Given the description of an element on the screen output the (x, y) to click on. 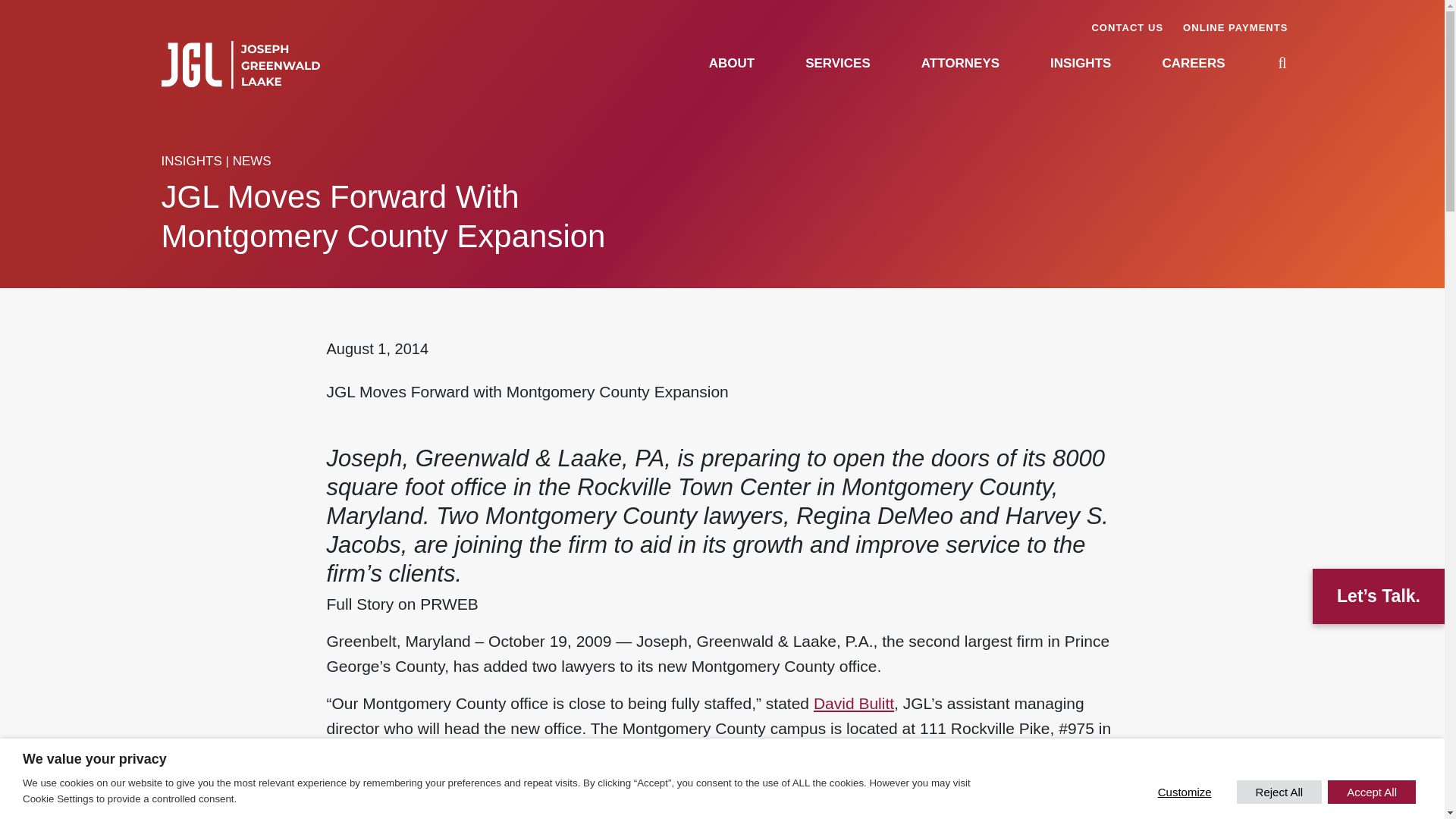
David Bulitt (853, 702)
SERVICES (837, 63)
ONLINE PAYMENTS (1234, 27)
NEWS (251, 160)
ABOUT (731, 63)
CONTACT US (1126, 27)
INSIGHTS (1079, 63)
CAREERS (1192, 63)
ATTORNEYS (959, 63)
